Given the description of an element on the screen output the (x, y) to click on. 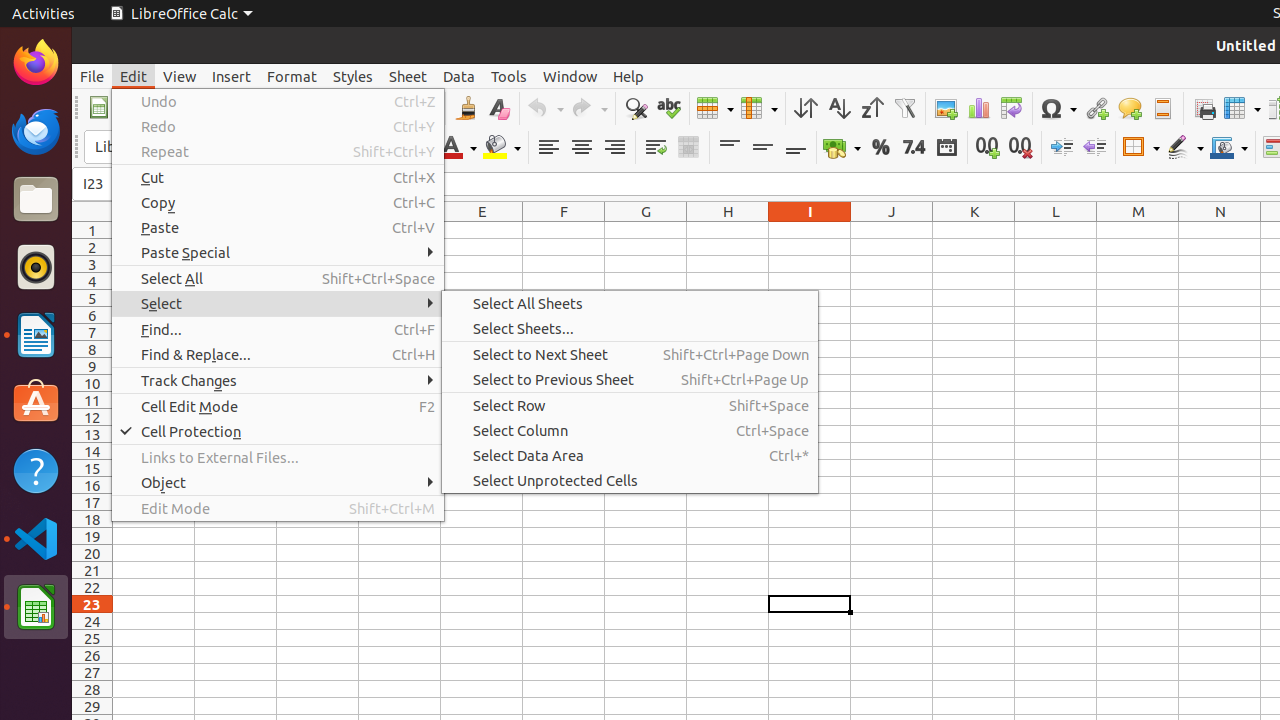
AutoFilter Element type: push-button (904, 108)
Sort Descending Element type: push-button (871, 108)
Links to External Files... Element type: menu-item (278, 457)
Column Element type: push-button (759, 108)
Edit Mode Element type: menu-item (278, 508)
